Given the description of an element on the screen output the (x, y) to click on. 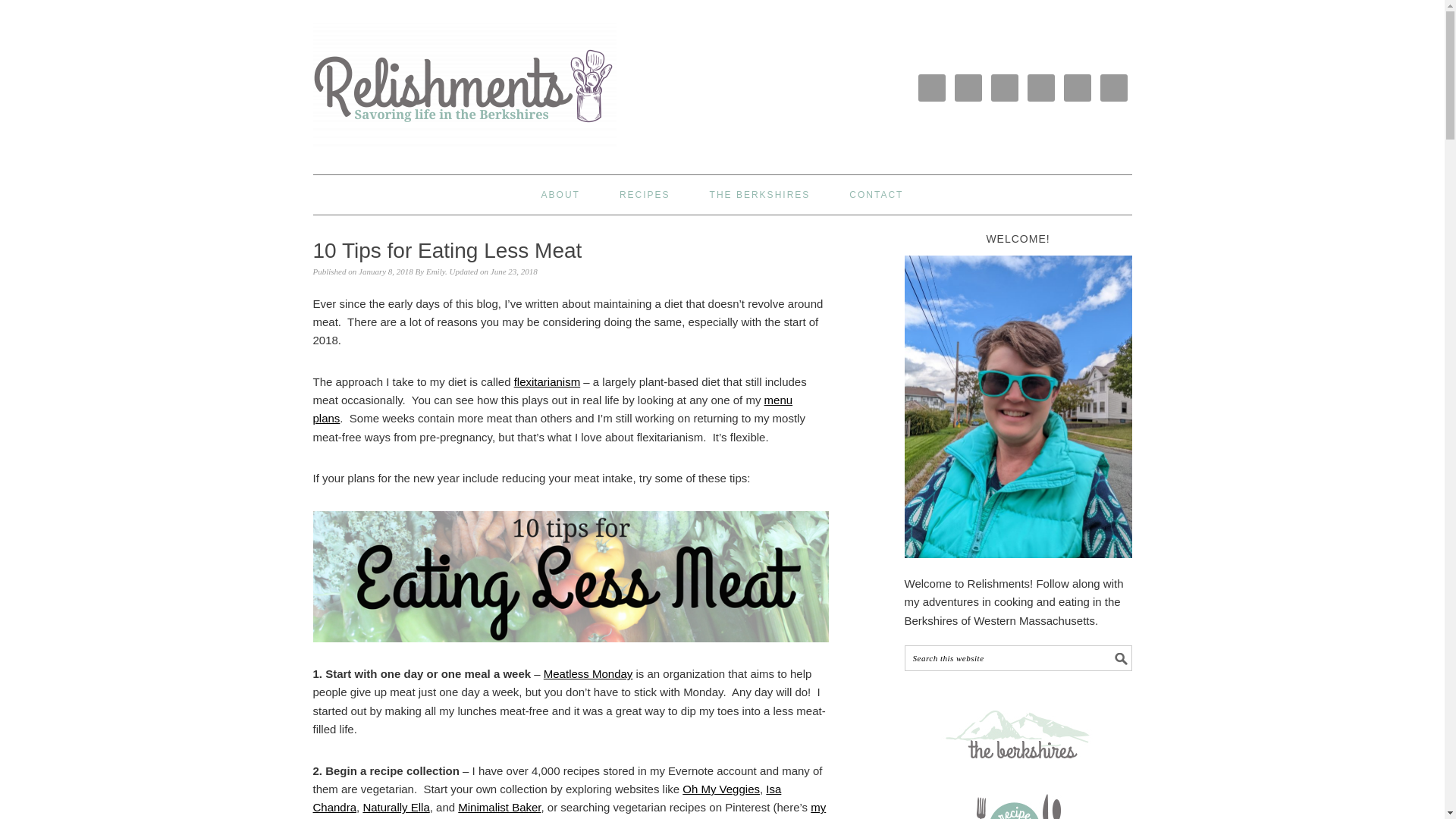
RECIPES (643, 194)
ABOUT (560, 194)
Naturally Ella (395, 807)
my meat-free Pinterest board (569, 809)
flexitarianism (546, 381)
Oh My Veggies (721, 788)
Emily (435, 271)
CONTACT (875, 194)
Isa Chandra (546, 798)
THE BERKSHIRES (759, 194)
RELISHMENTS (426, 94)
Meatless Monday (588, 673)
Minimalist Baker (499, 807)
